Given the description of an element on the screen output the (x, y) to click on. 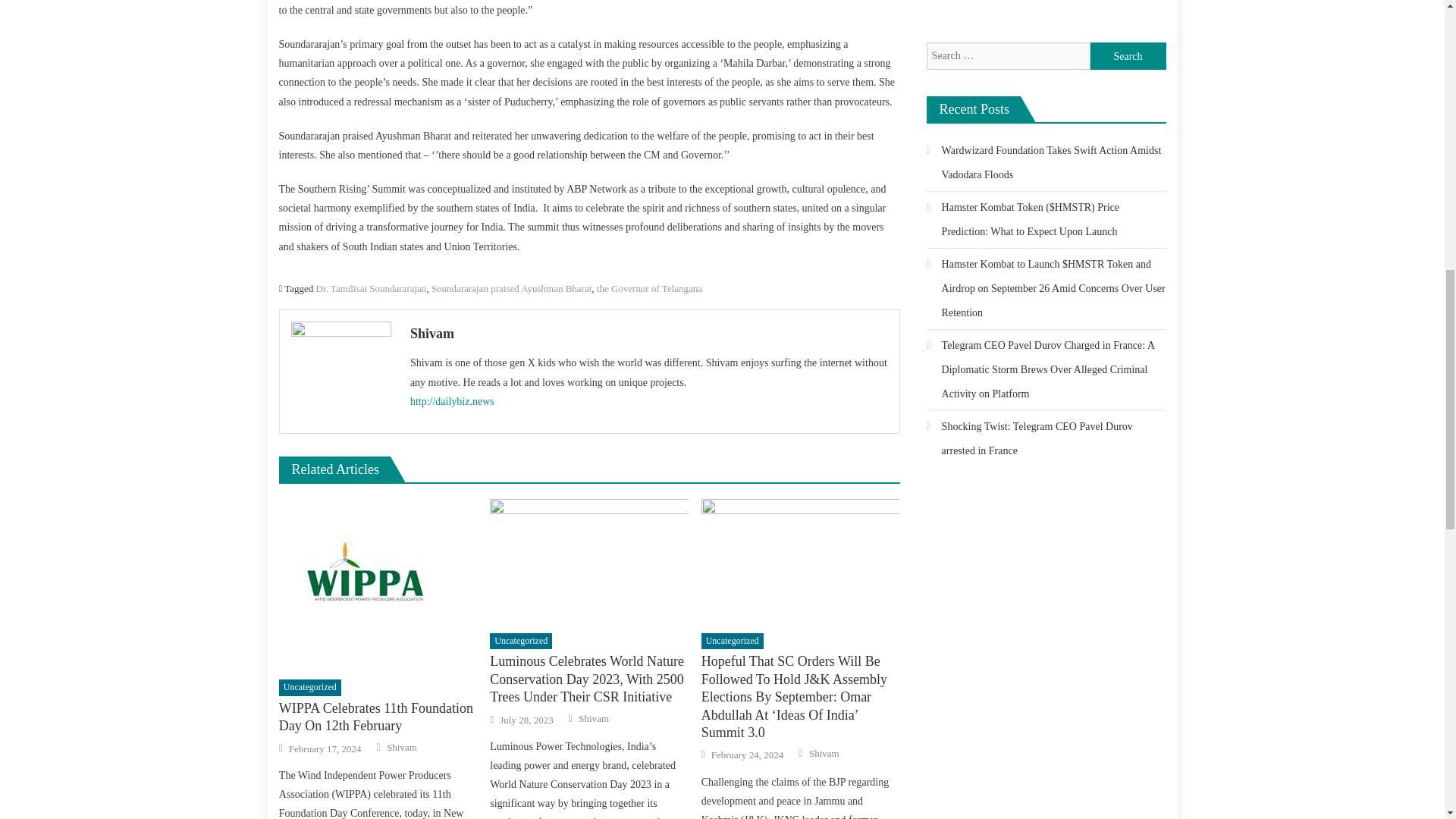
July 28, 2023 (526, 720)
Shivam (824, 753)
Search (1128, 55)
Shivam (649, 333)
Uncategorized (731, 641)
Dr. Tamilisai Soundararajan (370, 288)
Soundararajan praised Ayushman Bharat (510, 288)
February 17, 2024 (324, 748)
